Given the description of an element on the screen output the (x, y) to click on. 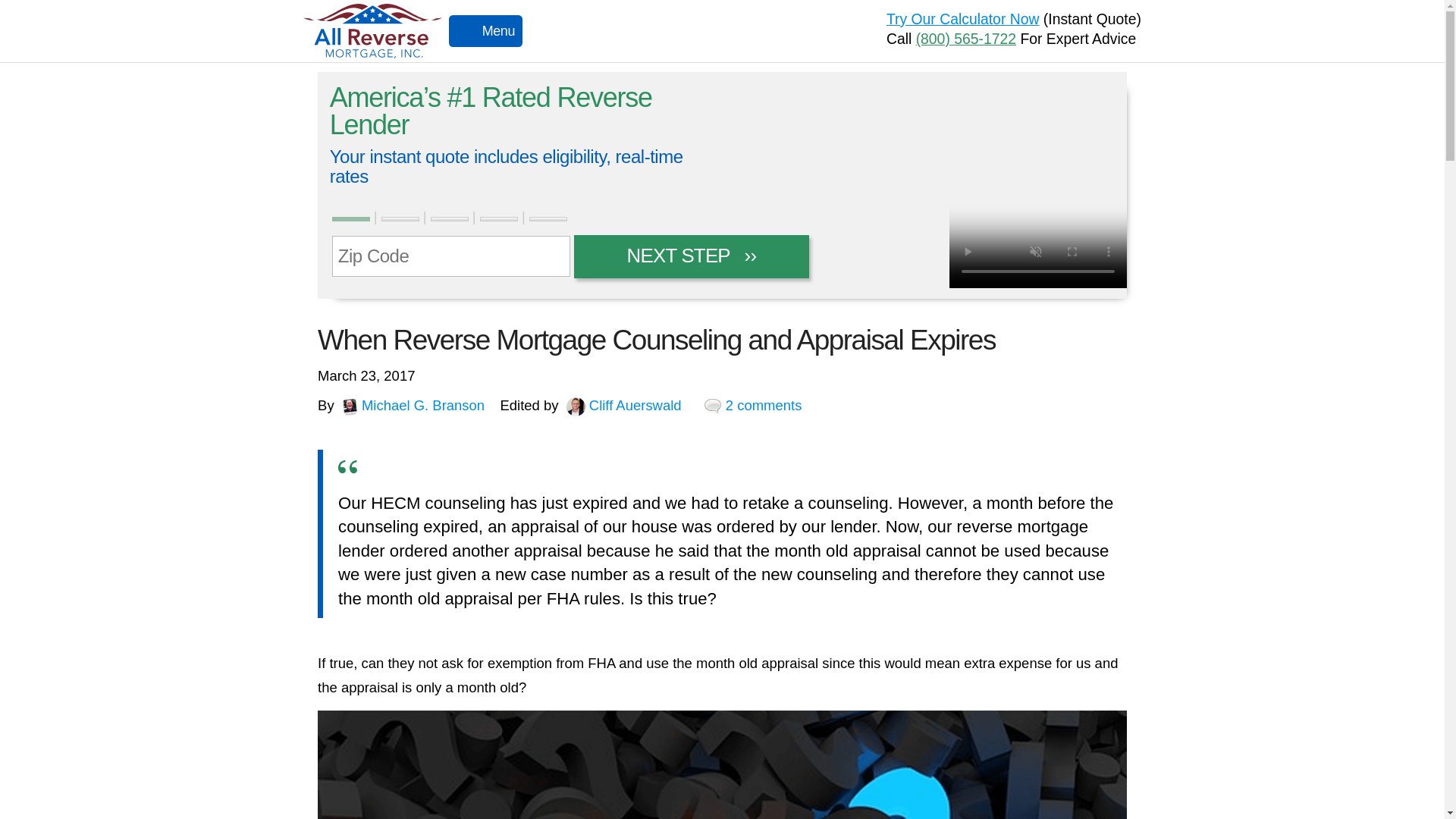
Try Our Calculator Now (962, 18)
Michael G. Branson (412, 404)
Cliff Auerswald (623, 404)
